Given the description of an element on the screen output the (x, y) to click on. 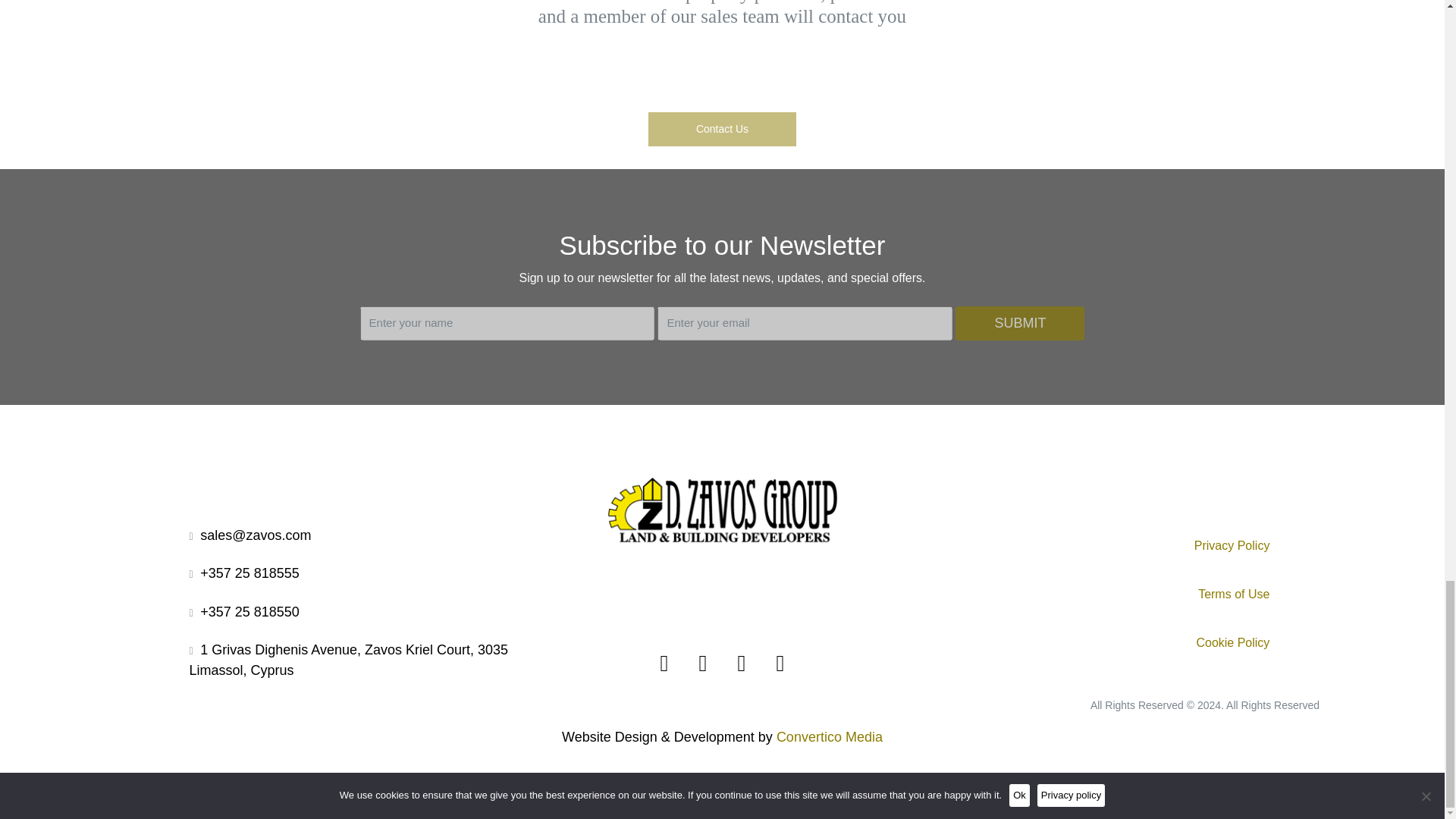
SUBMIT (1019, 323)
